Given the description of an element on the screen output the (x, y) to click on. 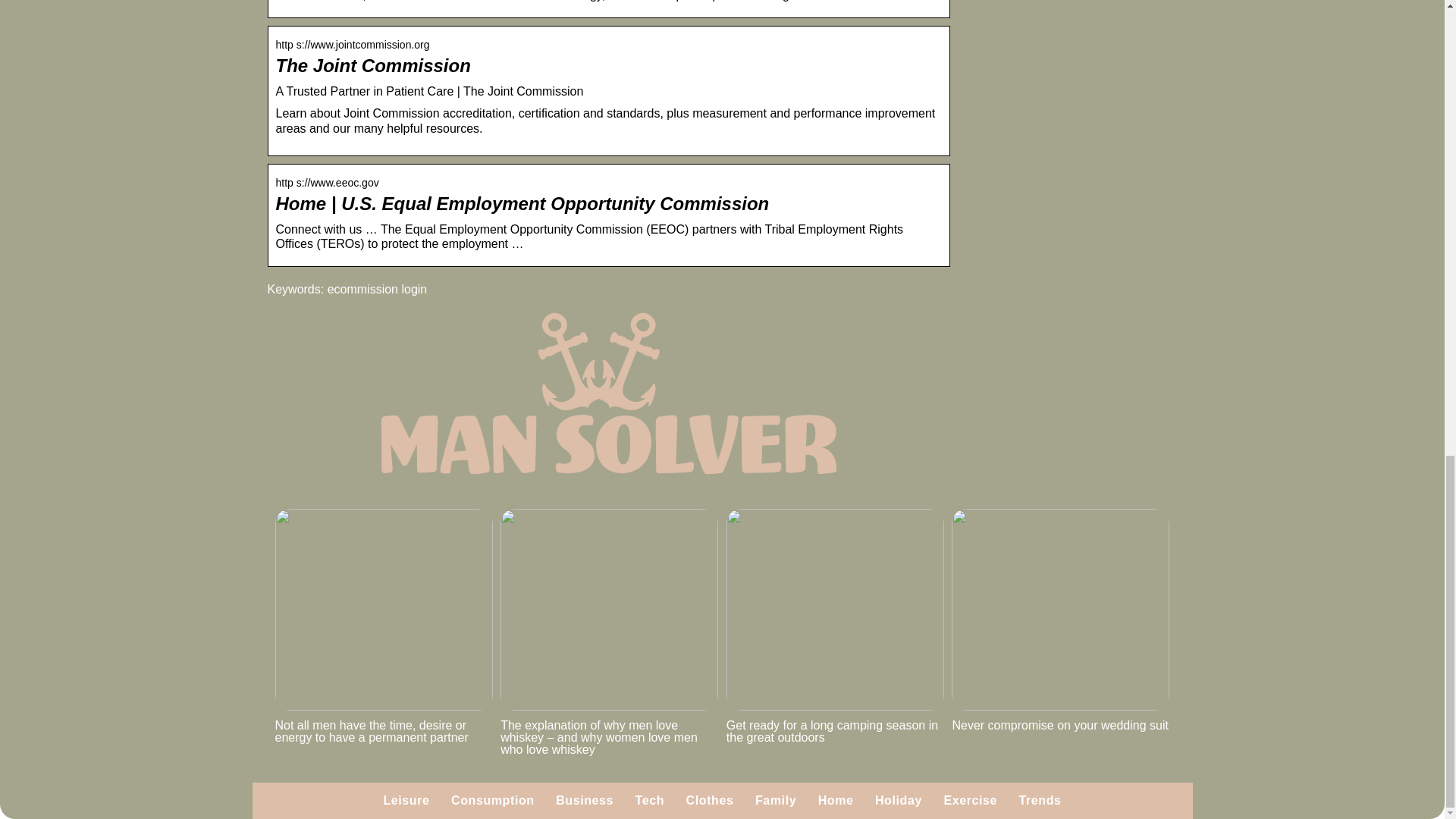
Leisure (405, 799)
Get ready for a long camping season in the great outdoors (834, 625)
Tech (649, 799)
Never compromise on your wedding suit (1060, 620)
Business (584, 799)
Consumption (492, 799)
Clothes (709, 799)
Family (775, 799)
